Given the description of an element on the screen output the (x, y) to click on. 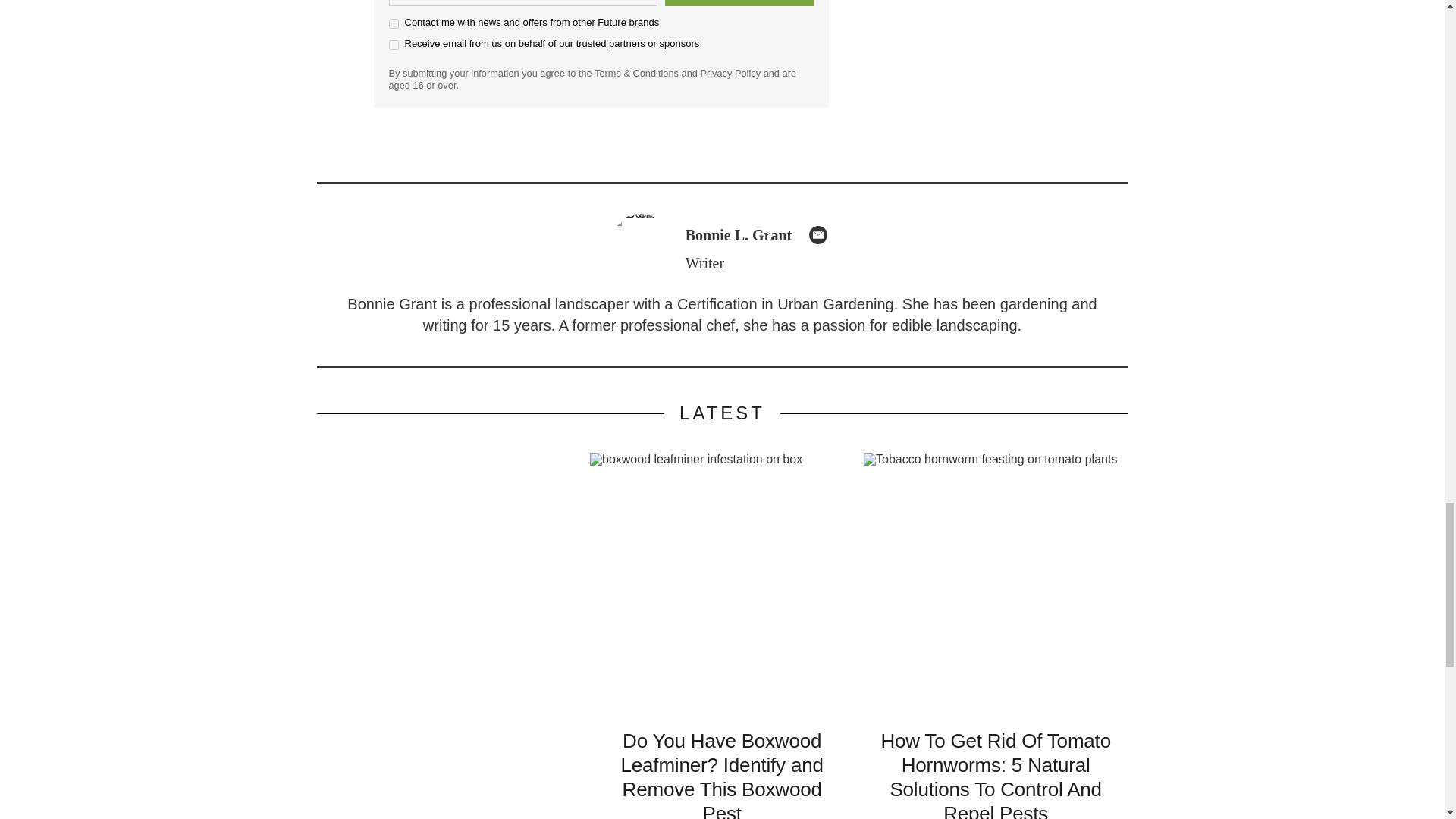
on (392, 23)
Sign me up (737, 2)
on (392, 44)
